Given the description of an element on the screen output the (x, y) to click on. 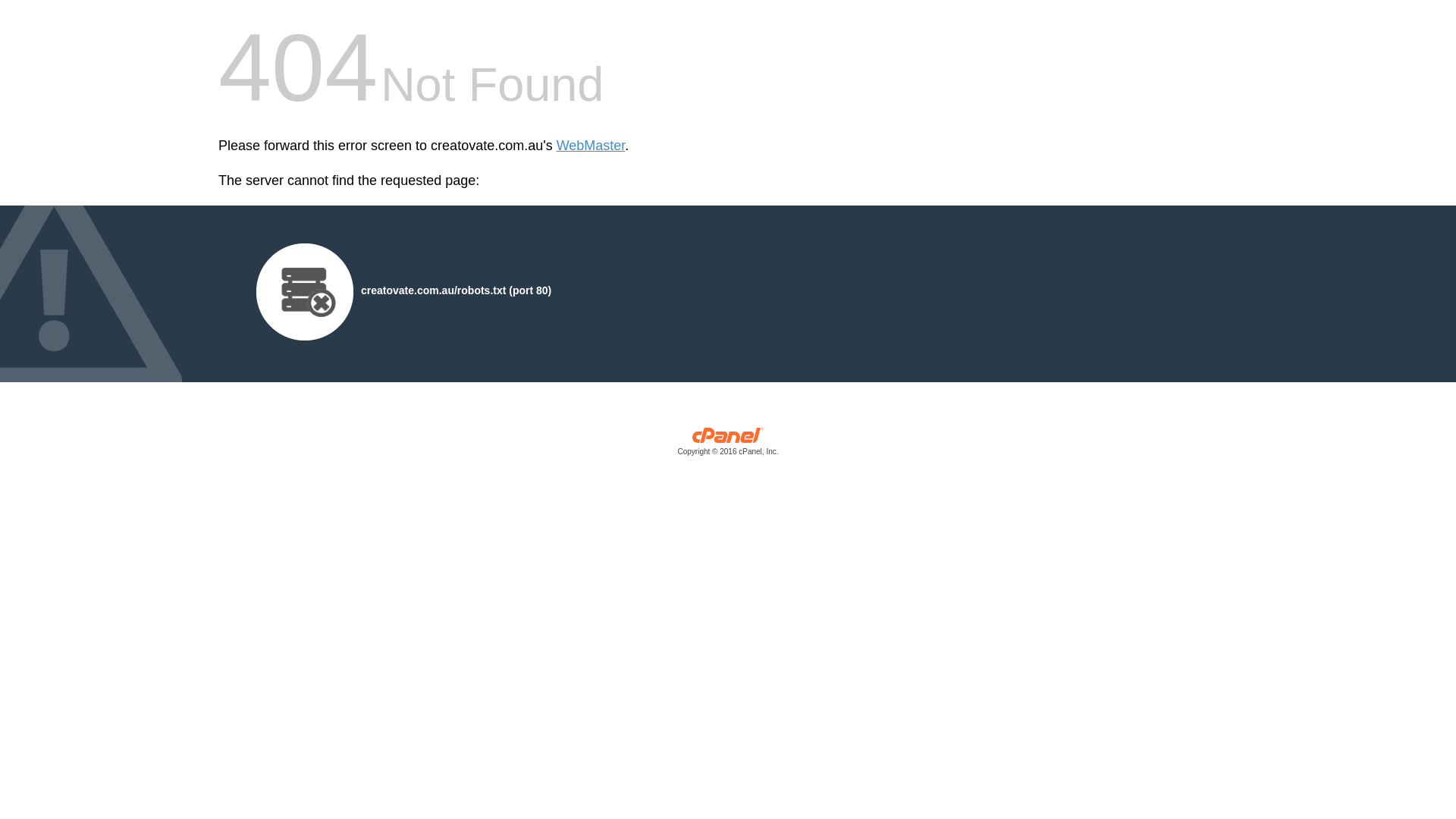
WebMaster Element type: text (590, 145)
